Given the description of an element on the screen output the (x, y) to click on. 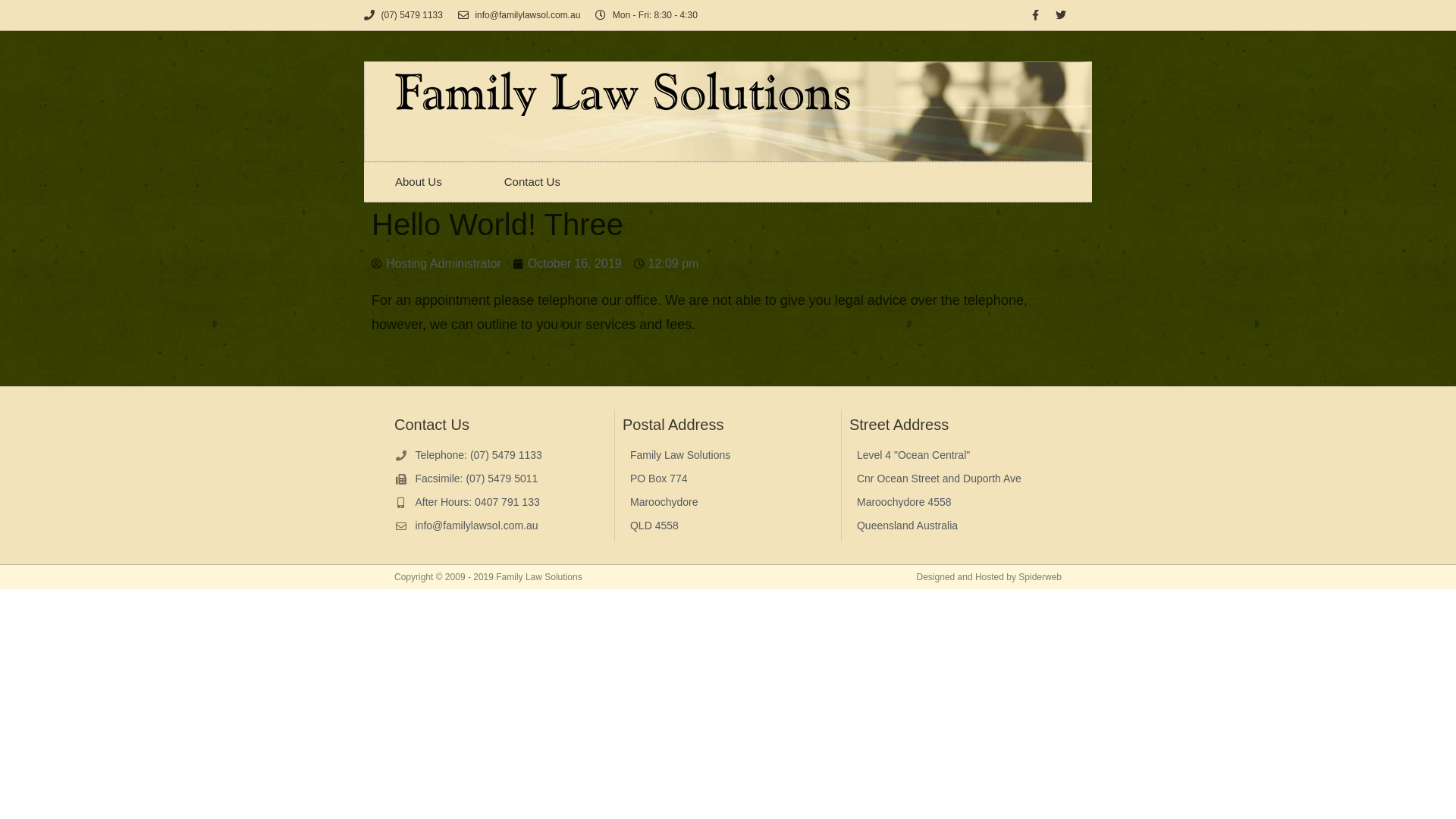
After Hours: 0407 791 133 Element type: text (500, 502)
info@familylawsol.com.au Element type: text (500, 525)
Telephone: (07) 5479 1133 Element type: text (500, 455)
Contact Us Element type: text (532, 181)
info@familylawsol.com.au Element type: text (519, 14)
(07) 5479 1133 Element type: text (403, 14)
About Us Element type: text (418, 181)
Hosting Administrator Element type: text (436, 263)
Facsimile: (07) 5479 5011 Element type: text (500, 478)
October 16, 2019 Element type: text (567, 263)
Designed and Hosted by Spiderweb Element type: text (988, 576)
